Given the description of an element on the screen output the (x, y) to click on. 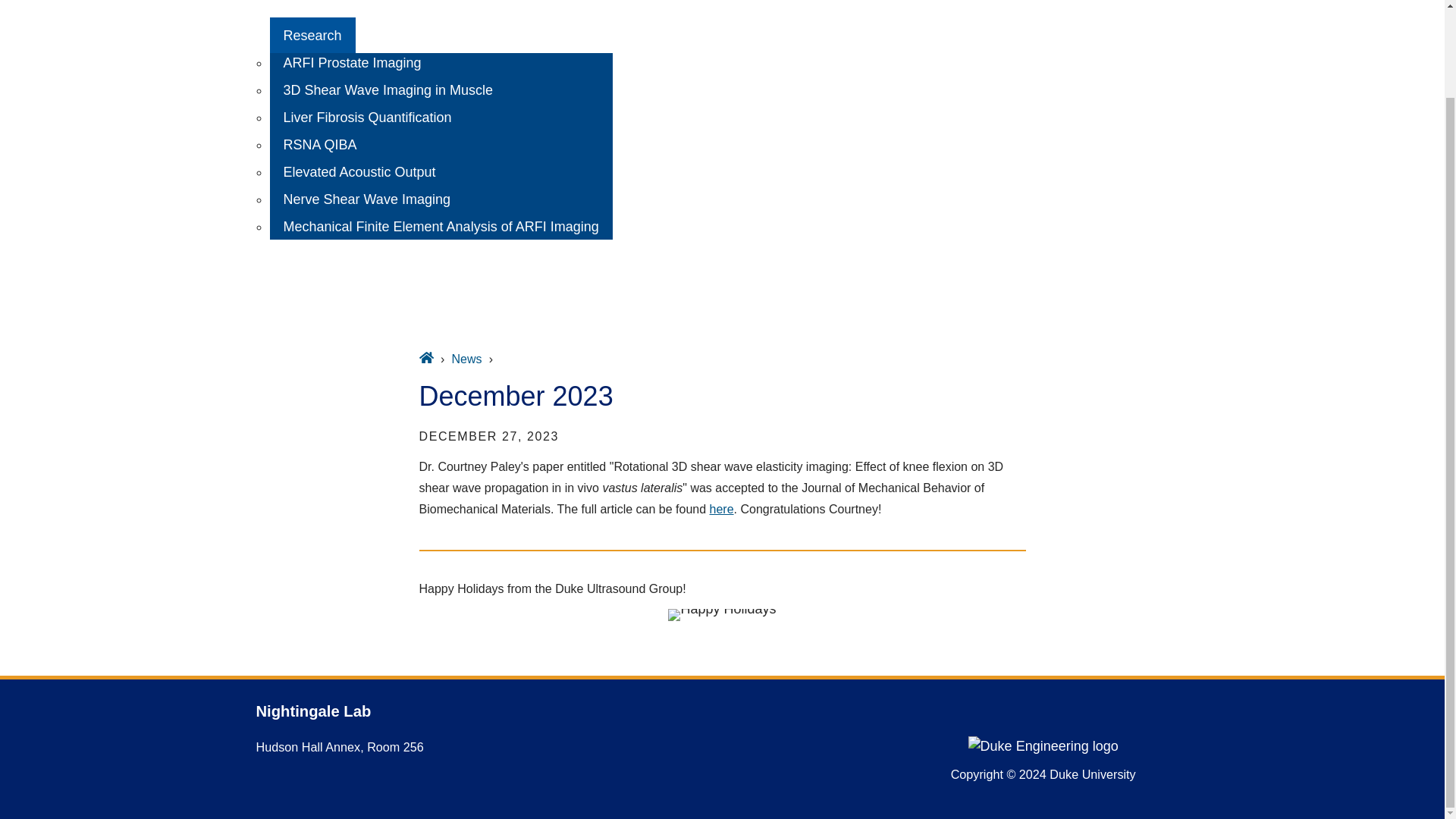
Elevated Acoustic Output (359, 171)
Mechanical Finite Element Analysis of ARFI Imaging (440, 226)
ARFI Prostate Imaging (352, 62)
3D Shear Wave Imaging in Muscle (387, 89)
Liver Fibrosis Quantification (367, 117)
News (466, 358)
Nerve Shear Wave Imaging (366, 198)
RSNA QIBA (320, 144)
Contact (306, 310)
Research (312, 35)
